Given the description of an element on the screen output the (x, y) to click on. 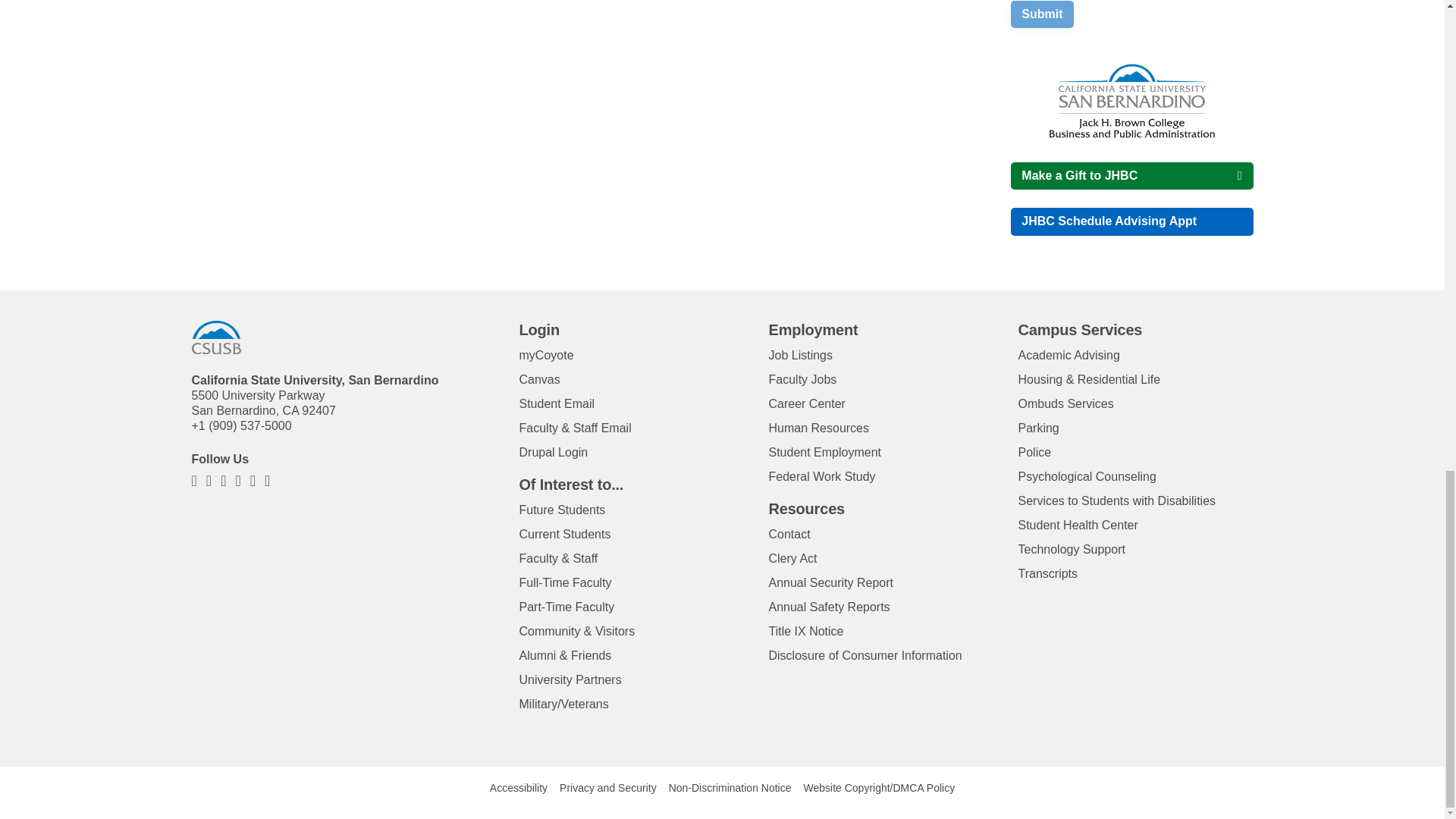
Directs to "Current Students" landing page (564, 533)
CSUSB (215, 337)
Directs to "Future Students" landing page (561, 509)
Submit (1042, 13)
